Given the description of an element on the screen output the (x, y) to click on. 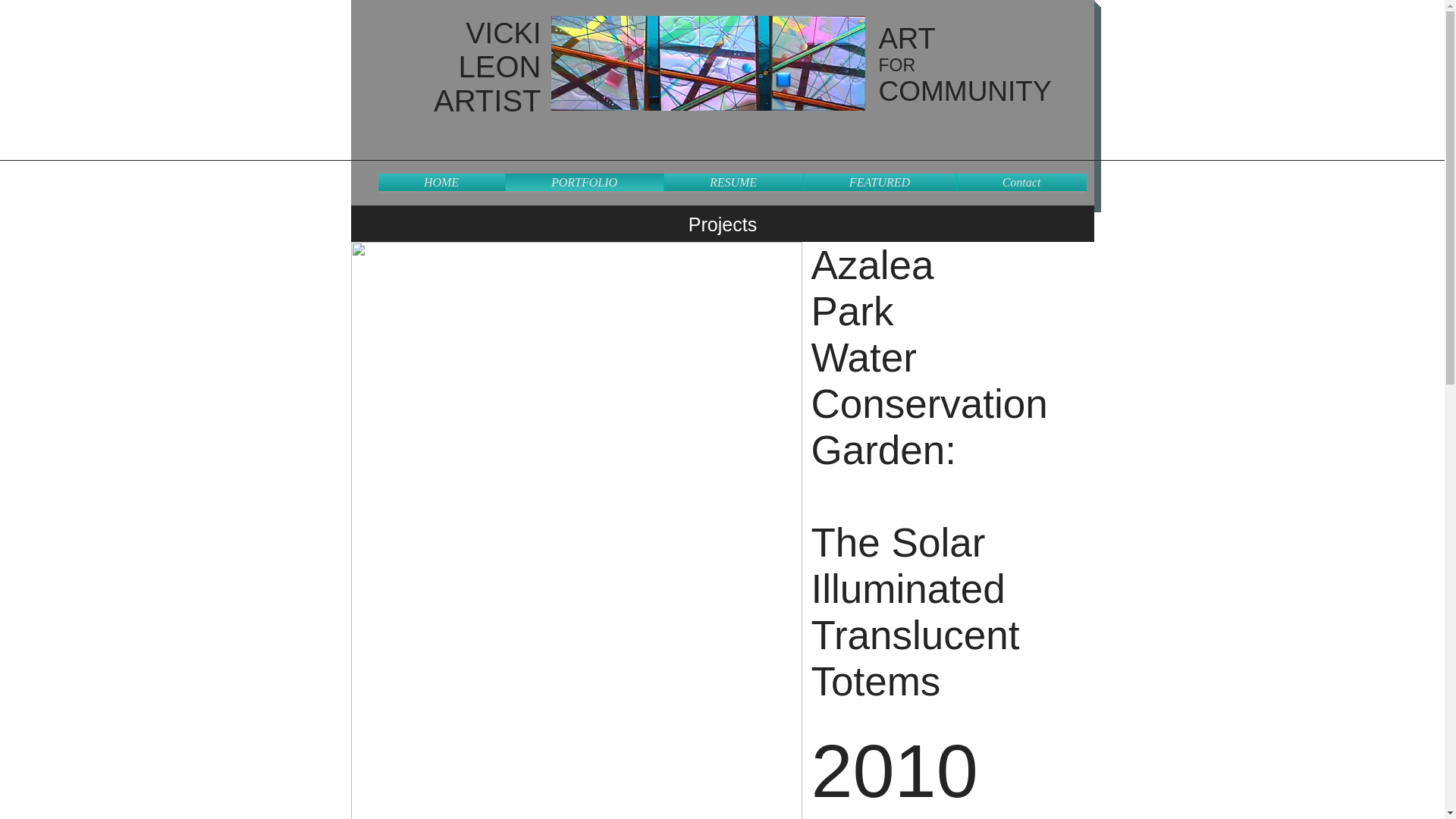
RESUME (733, 181)
FEATURED (879, 181)
Contact (1021, 181)
HOME (440, 181)
PORTFOLIO (583, 181)
